Given the description of an element on the screen output the (x, y) to click on. 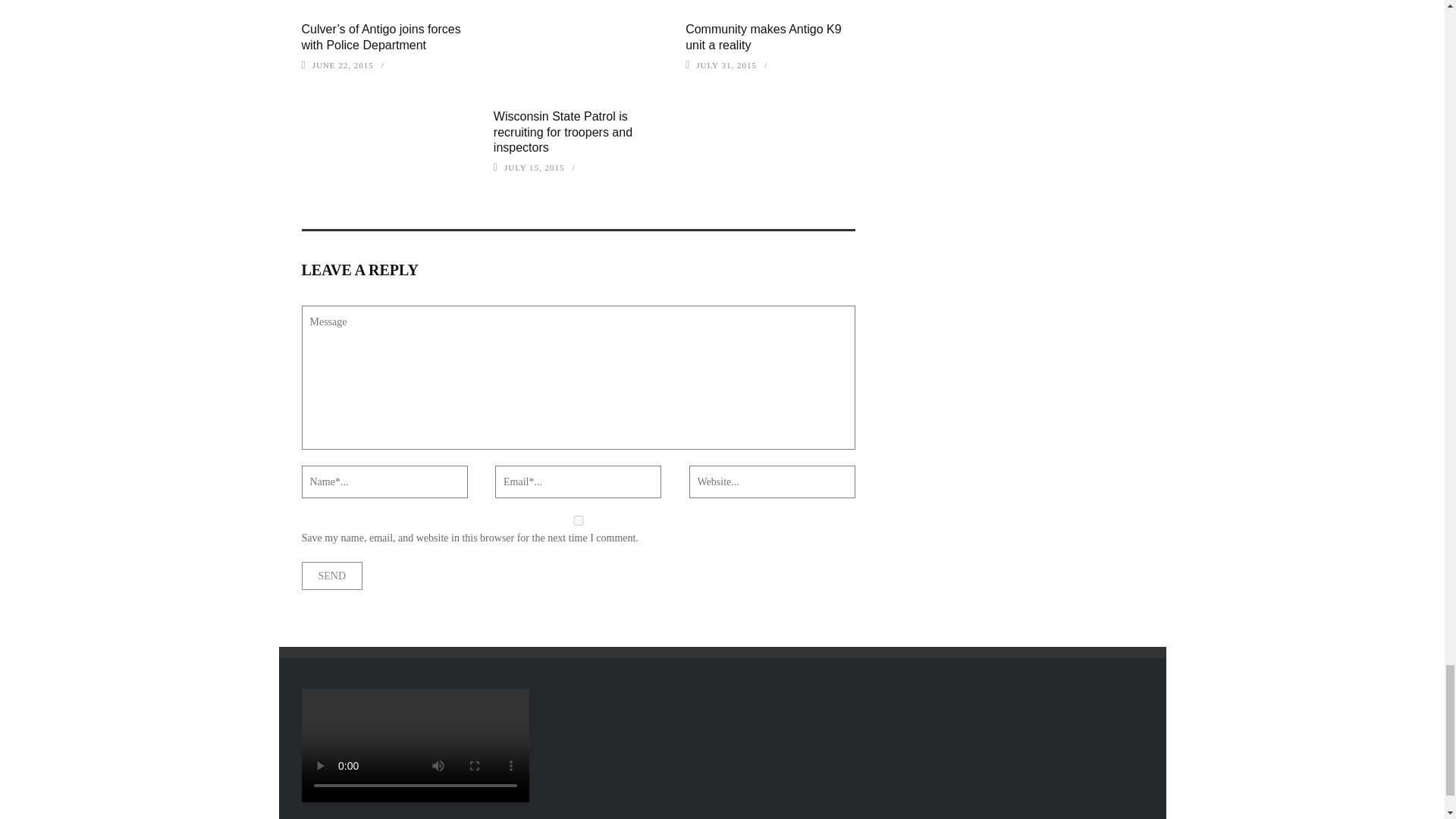
yes (578, 520)
Send (331, 575)
